Given the description of an element on the screen output the (x, y) to click on. 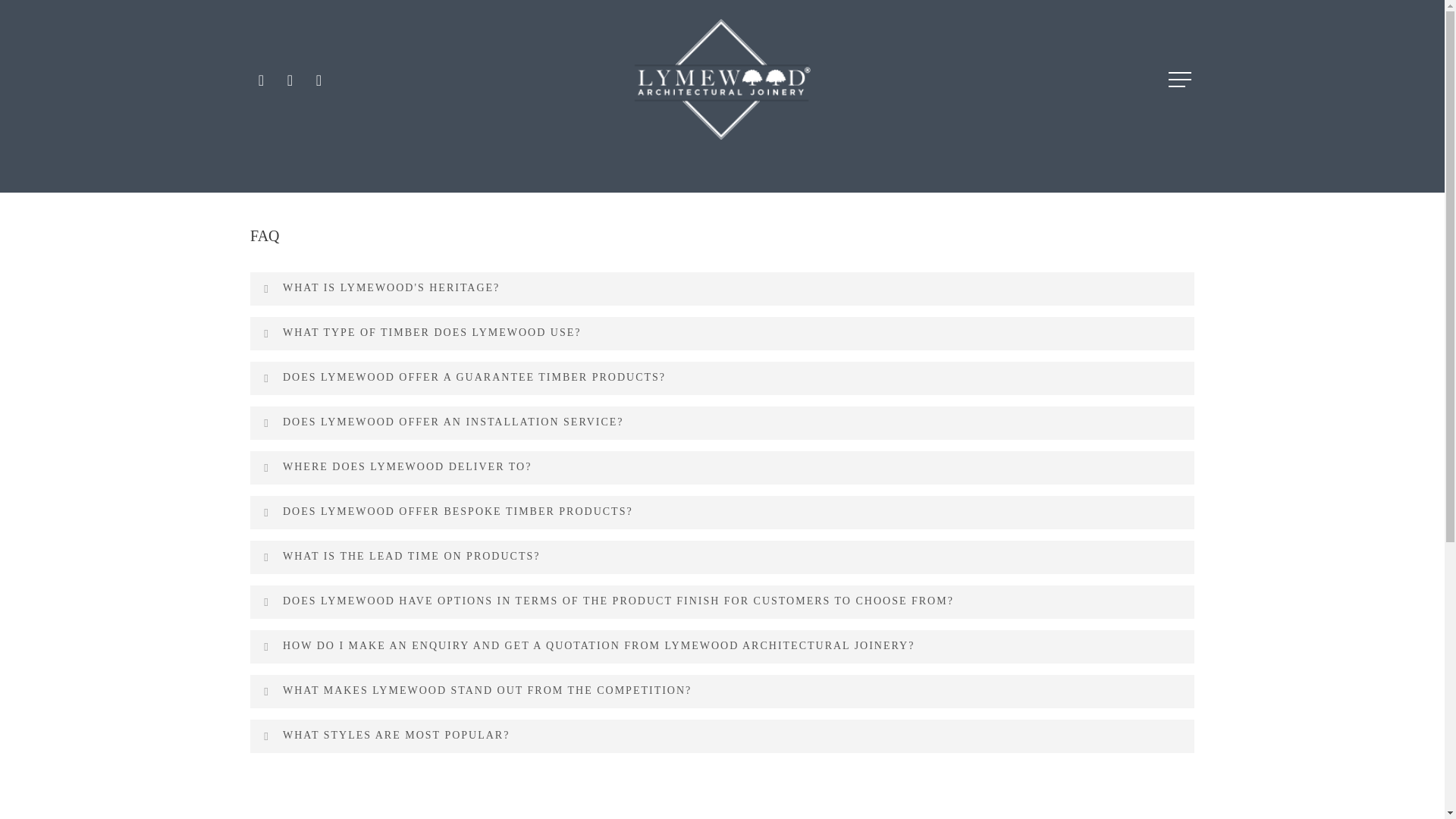
WHAT STYLES ARE MOST POPULAR? (721, 735)
DOES LYMEWOOD OFFER AN INSTALLATION SERVICE? (721, 422)
DOES LYMEWOOD OFFER A GUARANTEE TIMBER PRODUCTS? (721, 377)
WHAT TYPE OF TIMBER DOES LYMEWOOD USE? (721, 333)
WHAT IS LYMEWOOD'S HERITAGE? (721, 287)
DOES LYMEWOOD OFFER BESPOKE TIMBER PRODUCTS? (721, 512)
WHERE DOES LYMEWOOD DELIVER TO? (721, 467)
WHAT MAKES LYMEWOOD STAND OUT FROM THE COMPETITION? (721, 691)
WHAT IS THE LEAD TIME ON PRODUCTS? (721, 556)
